Given the description of an element on the screen output the (x, y) to click on. 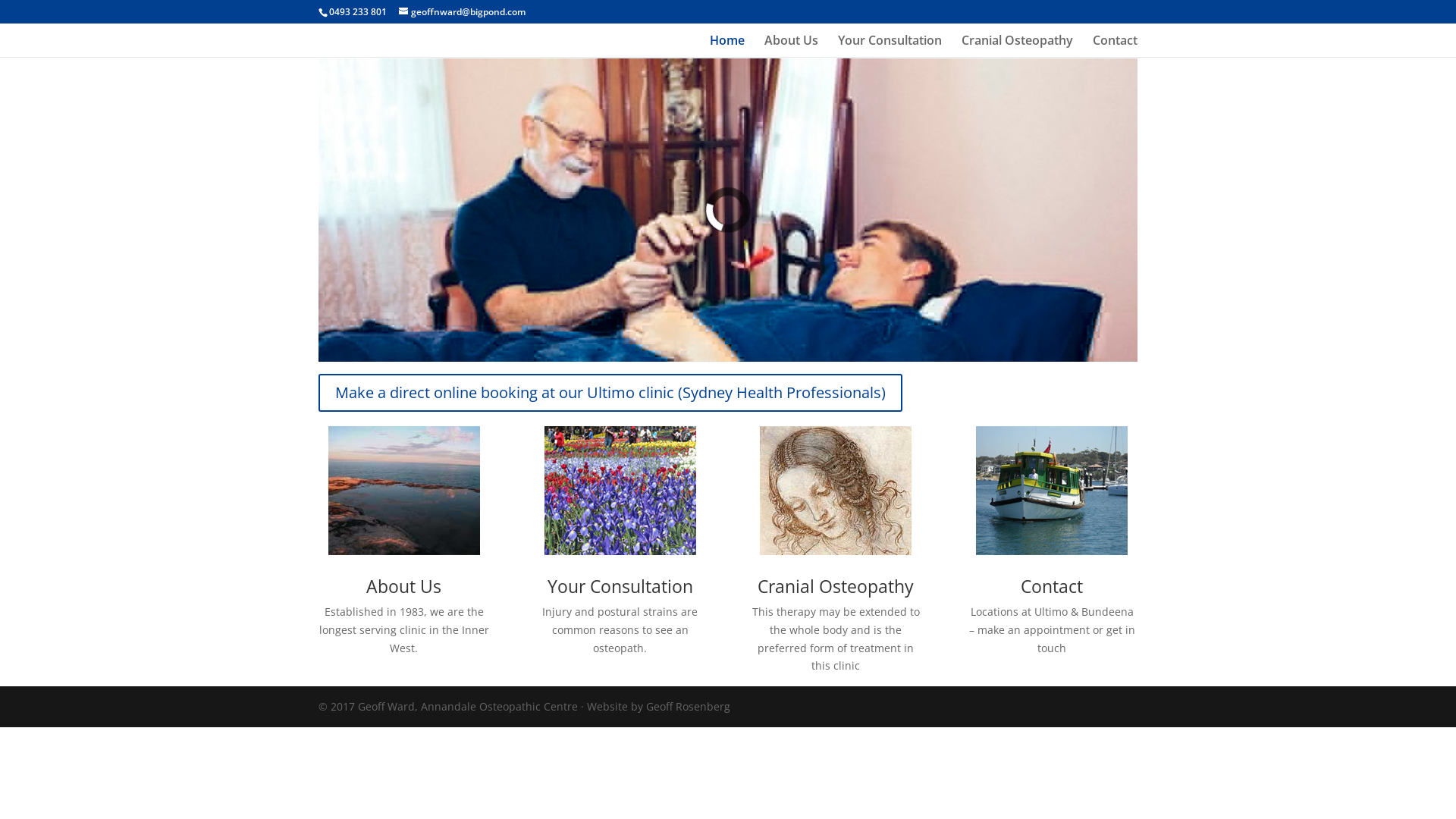
Contact Element type: text (1051, 586)
About Us Element type: text (791, 45)
Your Consultation Element type: text (620, 586)
About Us Element type: text (403, 586)
Home Element type: text (726, 45)
Your Consultation Element type: text (889, 45)
Contact Element type: text (1114, 45)
geoffnward@bigpond.com Element type: text (461, 11)
Cranial Osteopathy Element type: text (1017, 45)
Cranial Osteopathy Element type: text (835, 586)
